Given the description of an element on the screen output the (x, y) to click on. 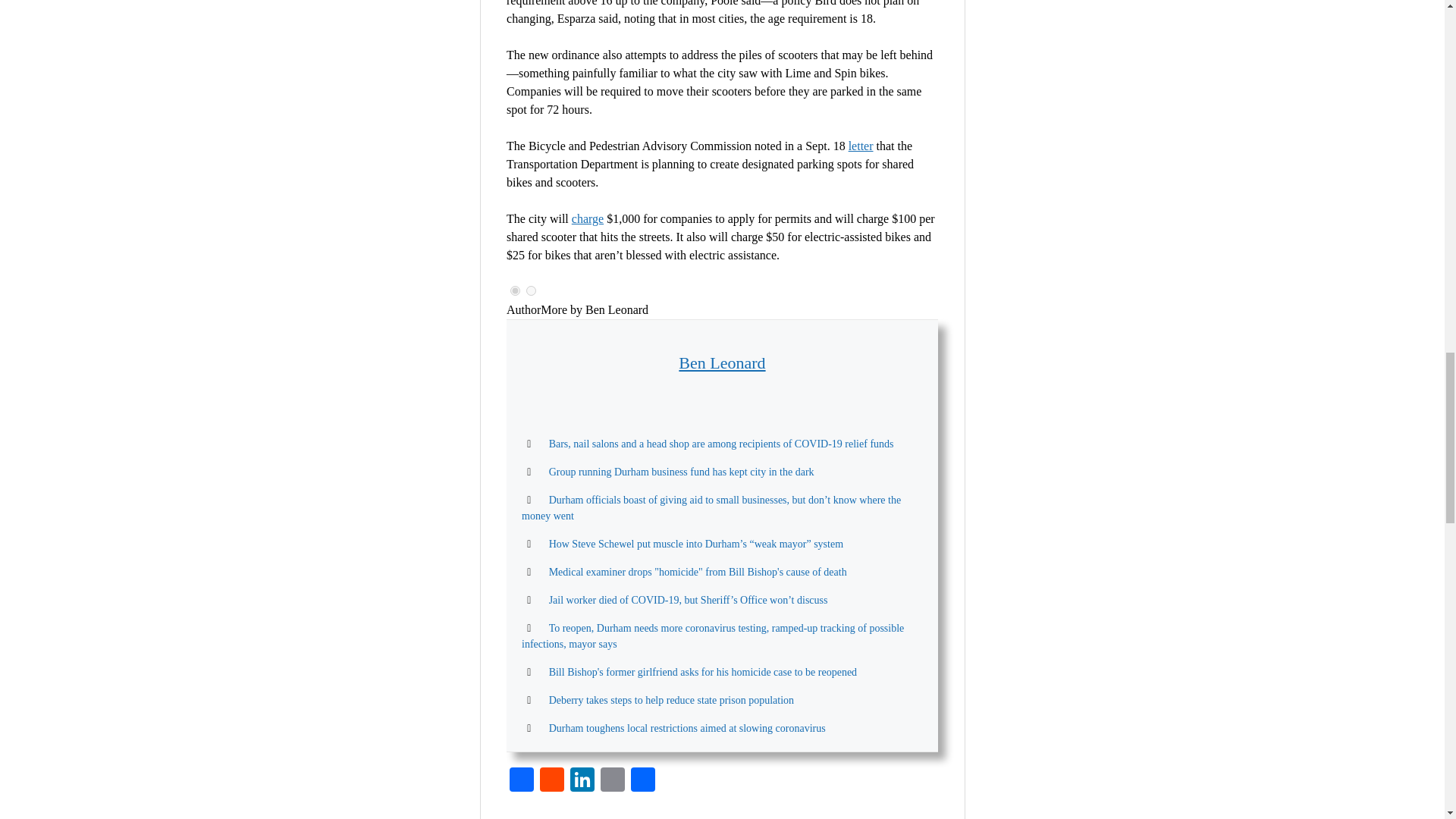
Facebook (521, 781)
LinkedIn (581, 781)
charge (588, 218)
Facebook (521, 781)
Email (611, 781)
Reddit (552, 781)
Group running Durham business fund has kept city in the dark (680, 471)
LinkedIn (581, 781)
Reddit (552, 781)
Deberry takes steps to help reduce state prison population (670, 699)
letter (860, 145)
on (530, 290)
